Given the description of an element on the screen output the (x, y) to click on. 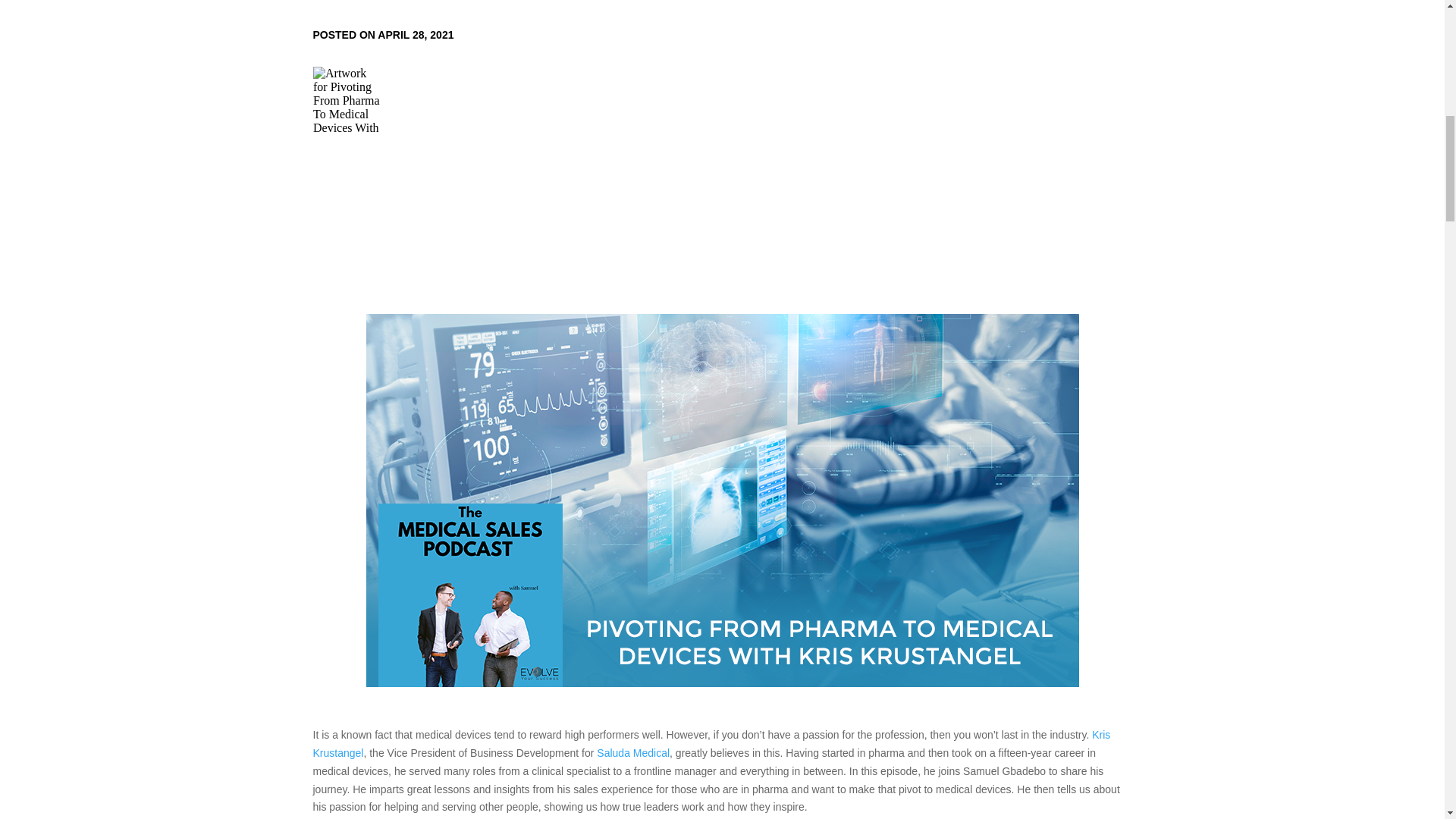
Kris Krustangel (711, 743)
Saluda Medical (632, 752)
Libsyn Player (722, 100)
